Given the description of an element on the screen output the (x, y) to click on. 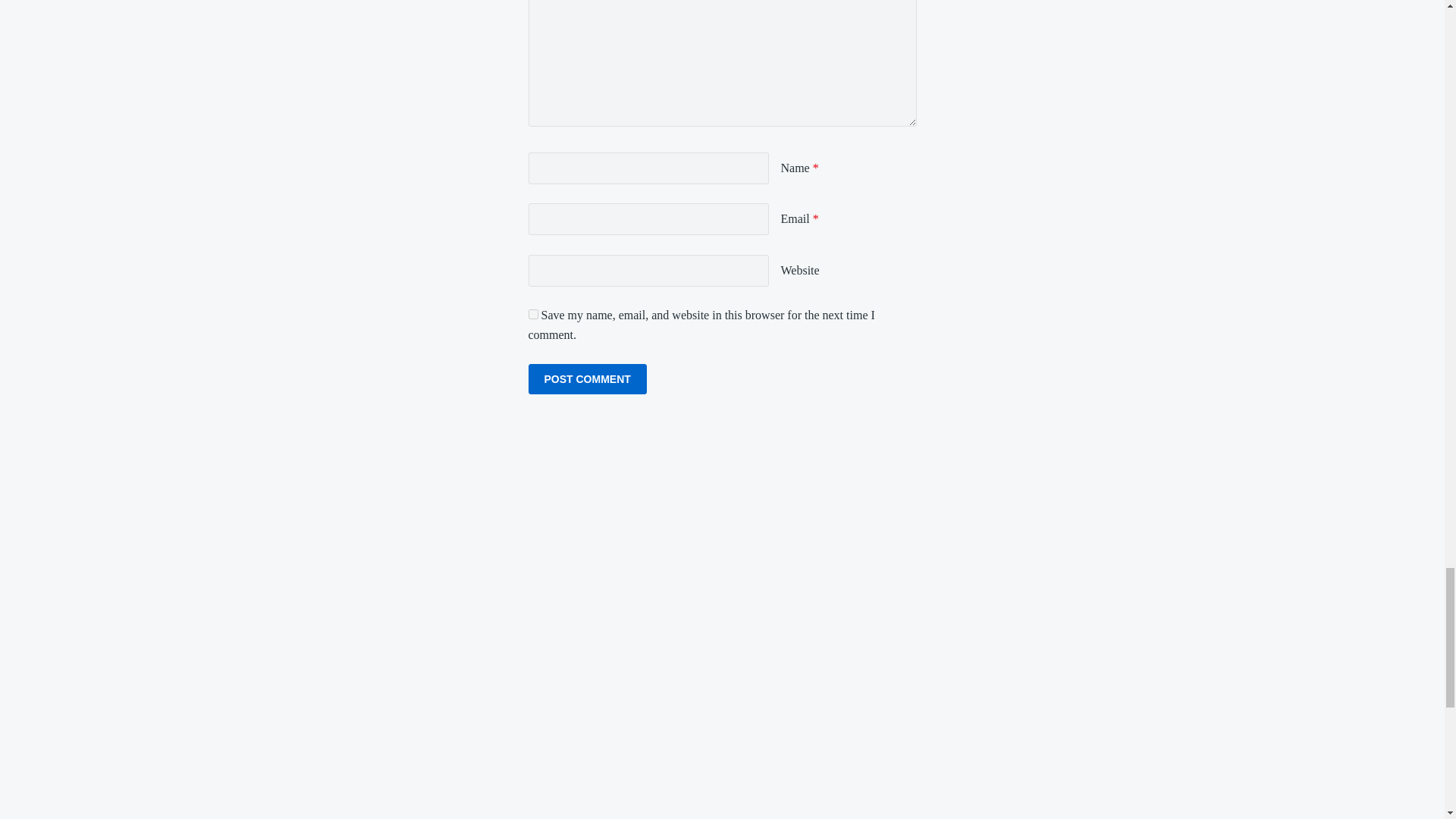
Post Comment (586, 378)
yes (532, 314)
Post Comment (586, 378)
